Given the description of an element on the screen output the (x, y) to click on. 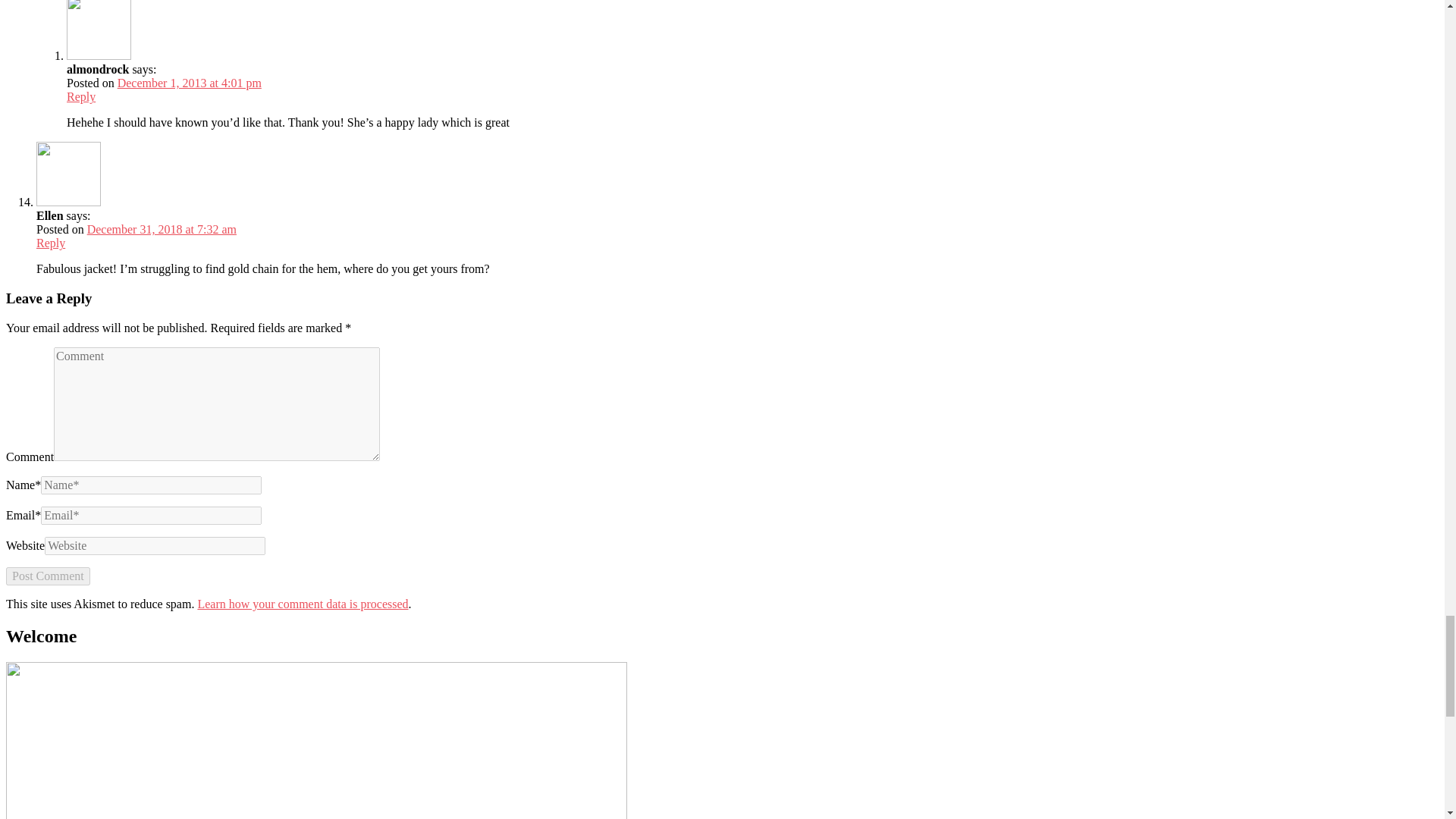
Post Comment (47, 576)
